Given the description of an element on the screen output the (x, y) to click on. 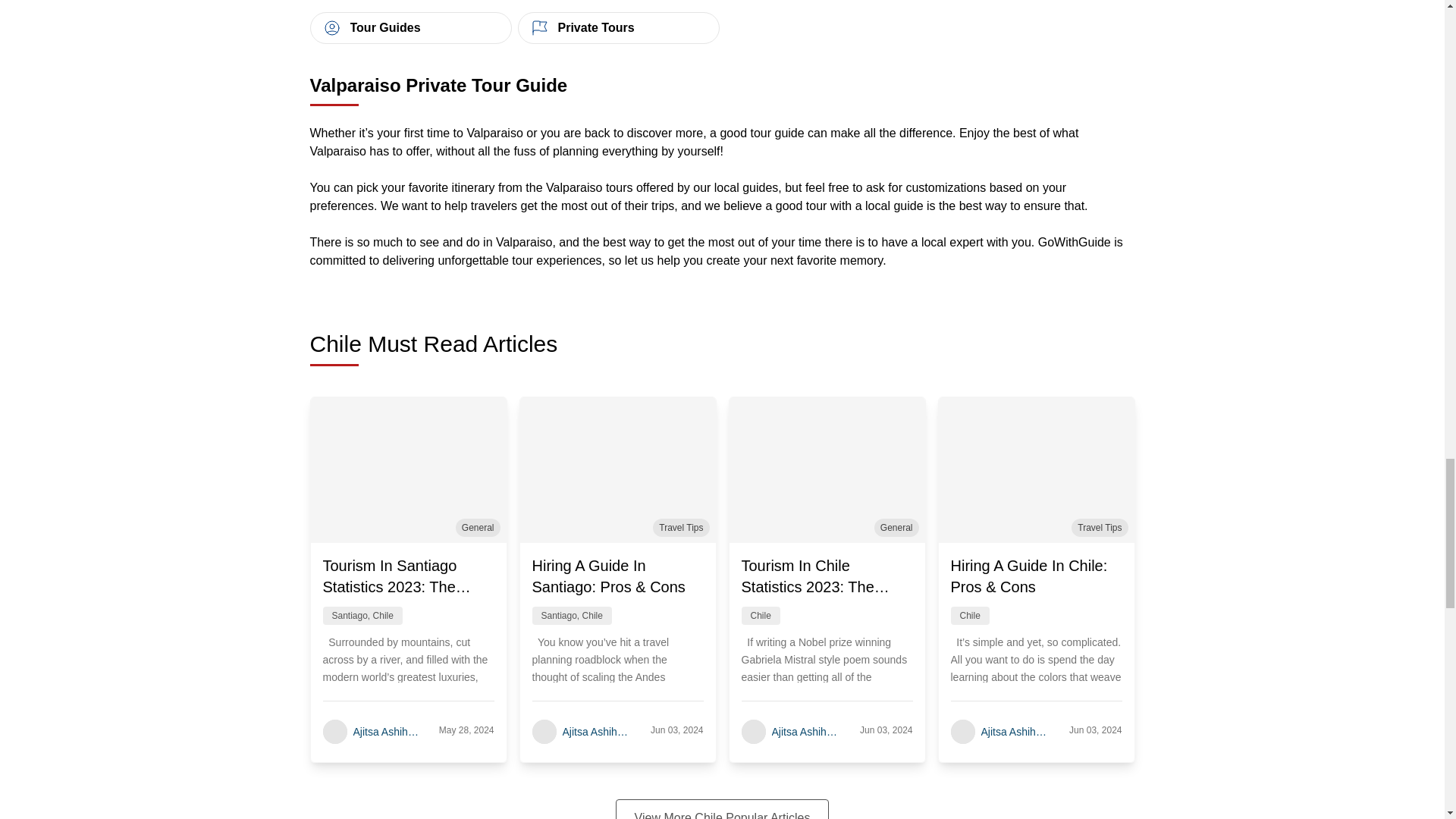
View More Chile Popular Articles (722, 809)
